Given the description of an element on the screen output the (x, y) to click on. 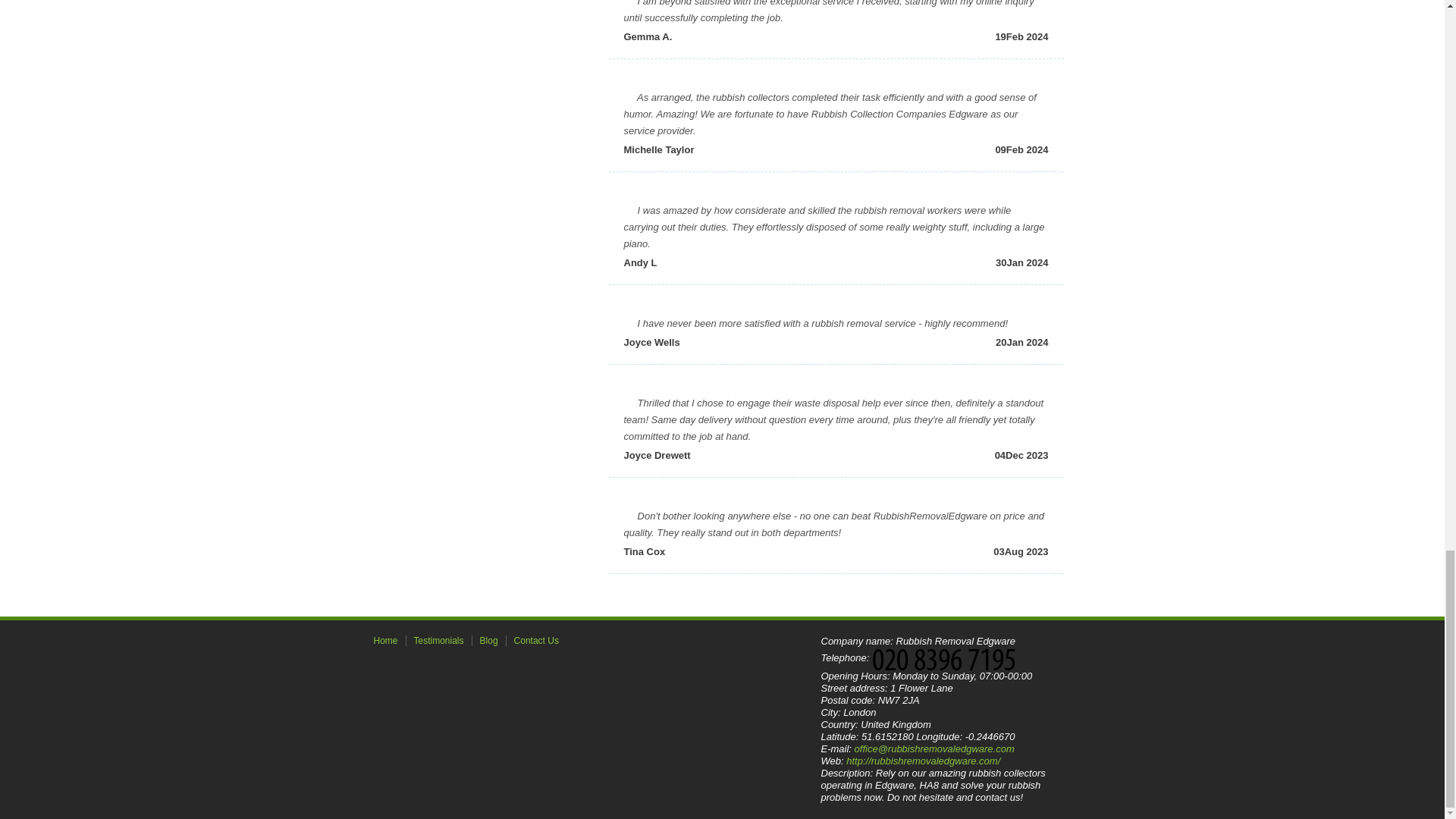
Home (385, 640)
Testimonials (438, 640)
Blog (488, 640)
Contact Us (536, 640)
Send E-mail (934, 748)
Call Now! (947, 658)
